Given the description of an element on the screen output the (x, y) to click on. 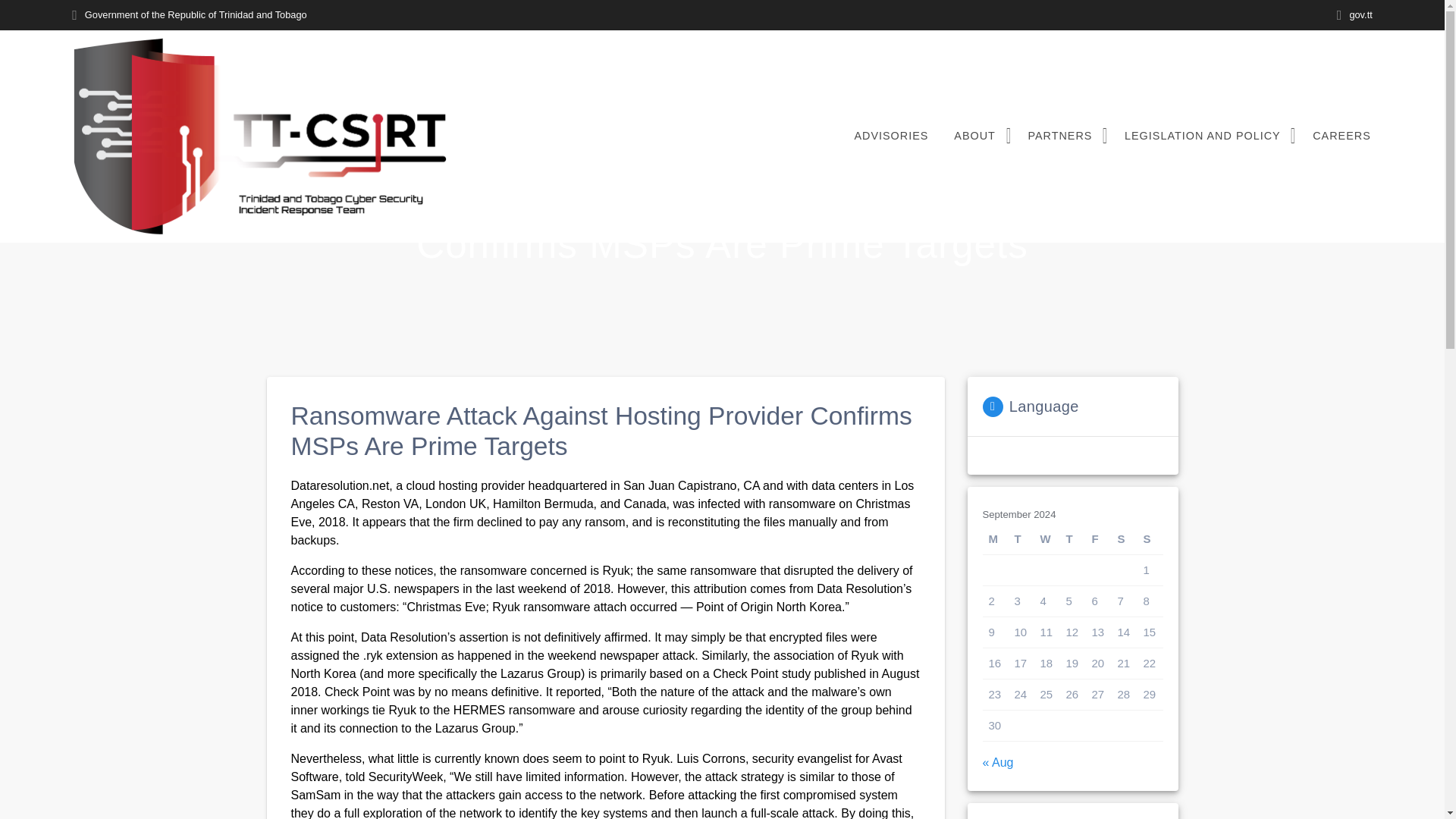
CAREERS (1341, 135)
ADVISORIES (890, 135)
PARTNERS (1062, 135)
LEGISLATION AND POLICY (1206, 135)
ABOUT (977, 135)
